Given the description of an element on the screen output the (x, y) to click on. 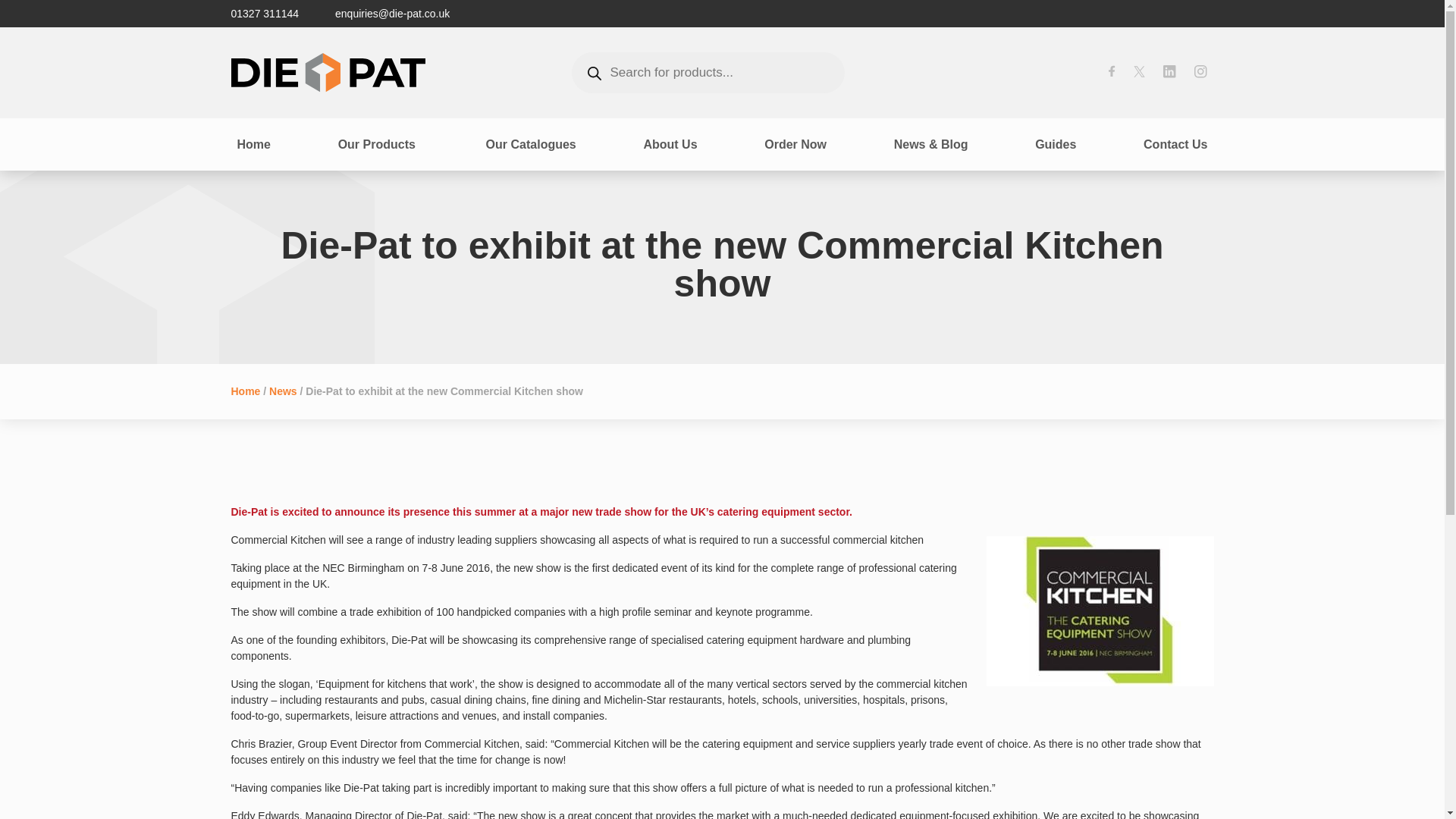
Guides (1055, 143)
Our Products (378, 143)
About Us (670, 143)
01327 311144 (264, 13)
News (283, 390)
Contact Us (1174, 143)
Order Now (795, 143)
Home (245, 390)
Home (253, 143)
Our Catalogues (531, 143)
